Given the description of an element on the screen output the (x, y) to click on. 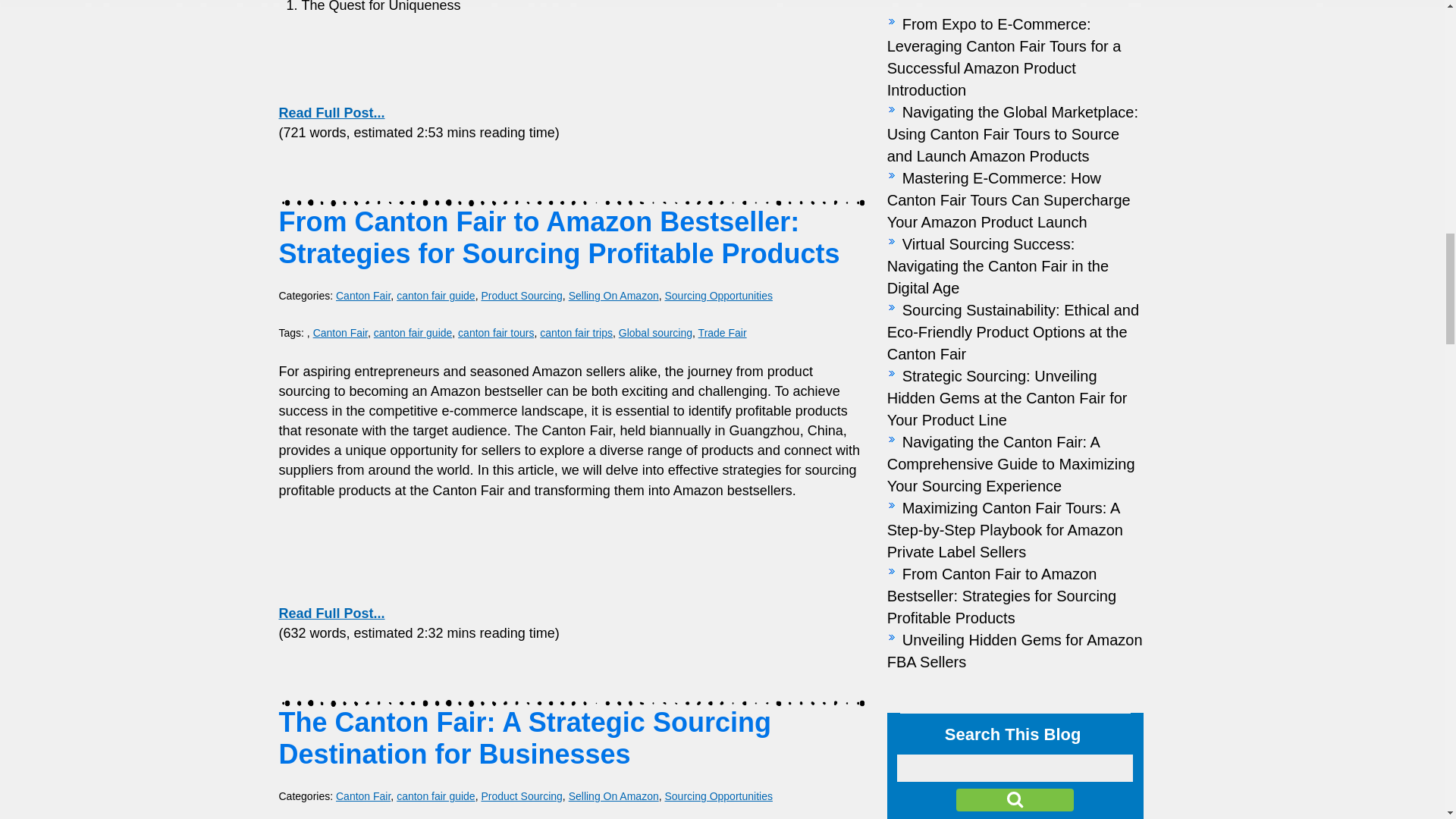
Search (1015, 799)
